Given the description of an element on the screen output the (x, y) to click on. 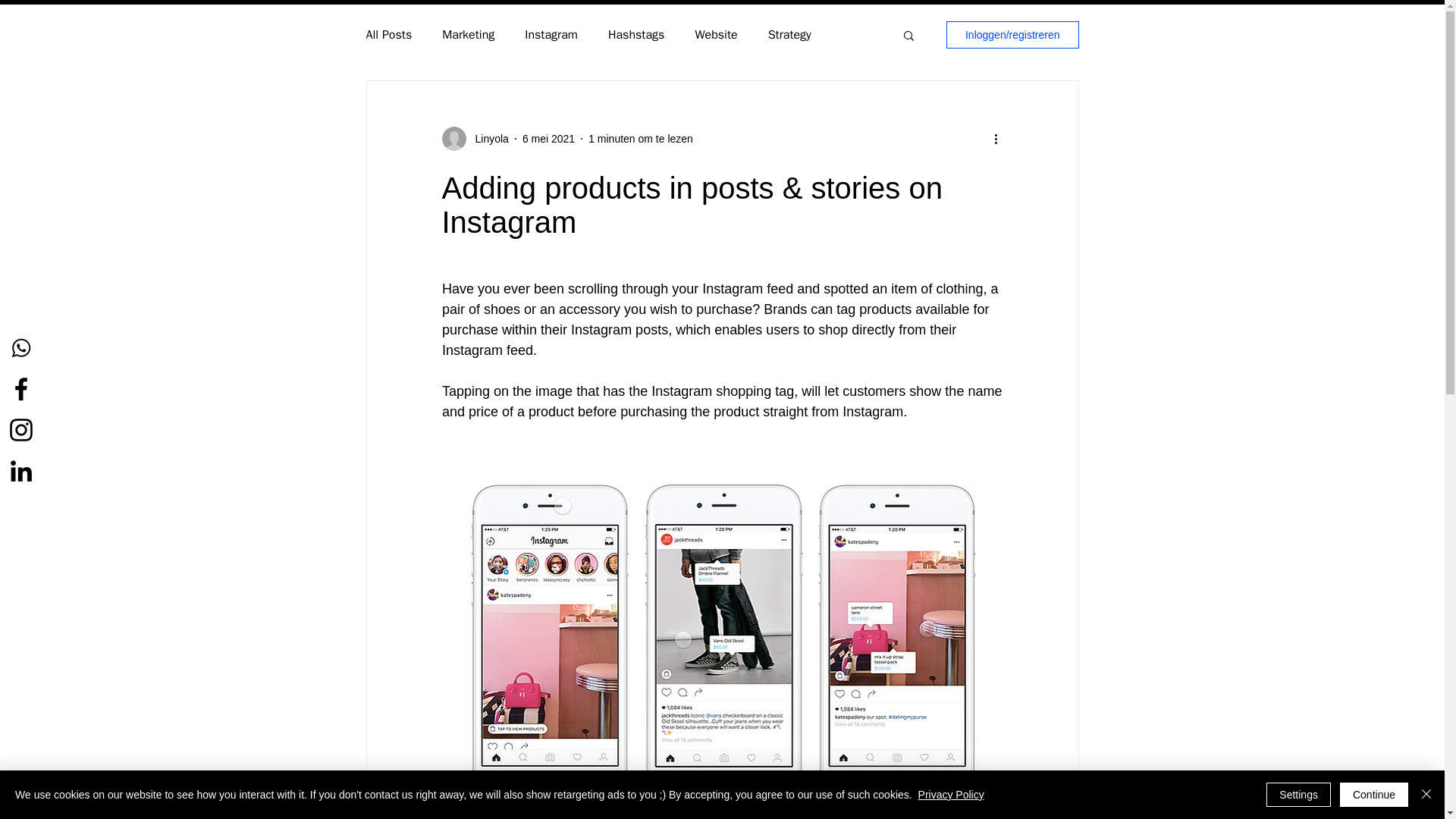
Hashstags (635, 35)
Marketing (468, 35)
1 minuten om te lezen (640, 137)
Instagram (551, 35)
Linyola (486, 138)
All Posts (388, 35)
6 mei 2021 (548, 137)
Strategy (789, 35)
Website (715, 35)
